Given the description of an element on the screen output the (x, y) to click on. 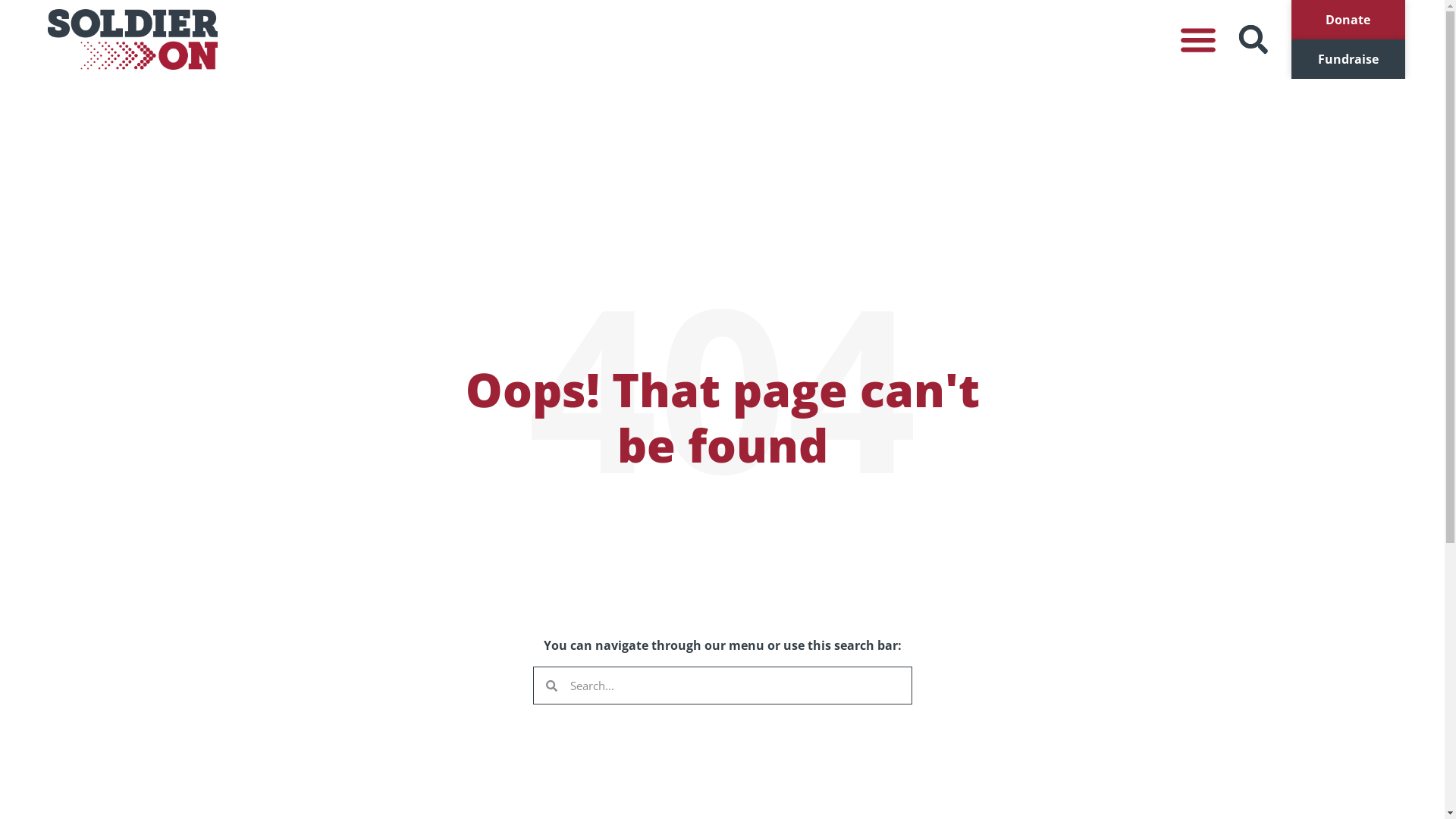
Donate Element type: text (1347, 19)
Fundraise Element type: text (1347, 58)
